Given the description of an element on the screen output the (x, y) to click on. 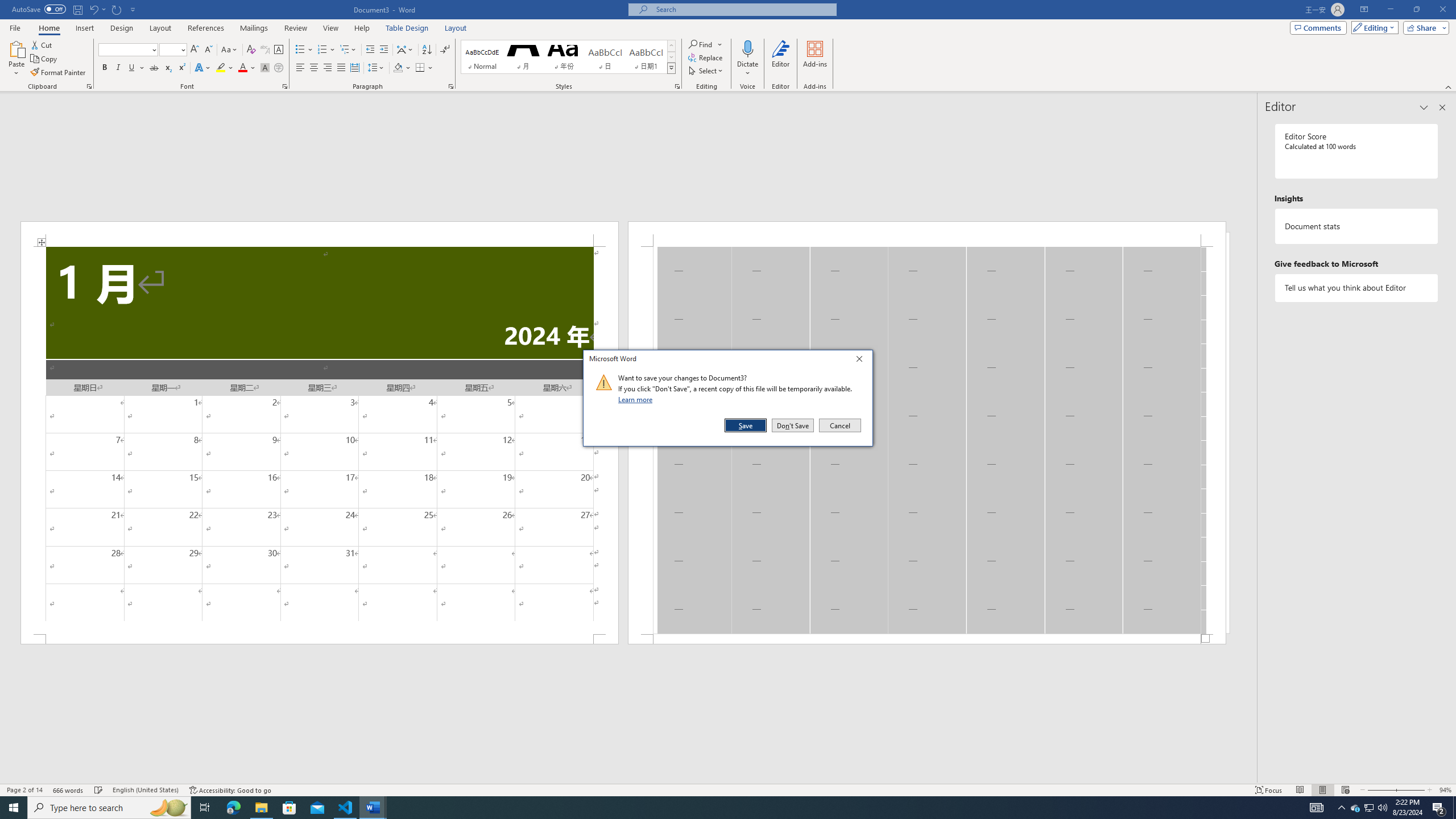
Home (48, 28)
Bullets (300, 49)
Mode (1372, 27)
Don't Save (792, 425)
References (205, 28)
Format Painter (58, 72)
Paste (16, 58)
Share (1423, 27)
Running applications (717, 807)
Quick Access Toolbar (74, 9)
Font (124, 49)
Dictate (747, 48)
Text Highlight Color Yellow (220, 67)
Numbering (322, 49)
Class: NetUIImage (603, 382)
